Given the description of an element on the screen output the (x, y) to click on. 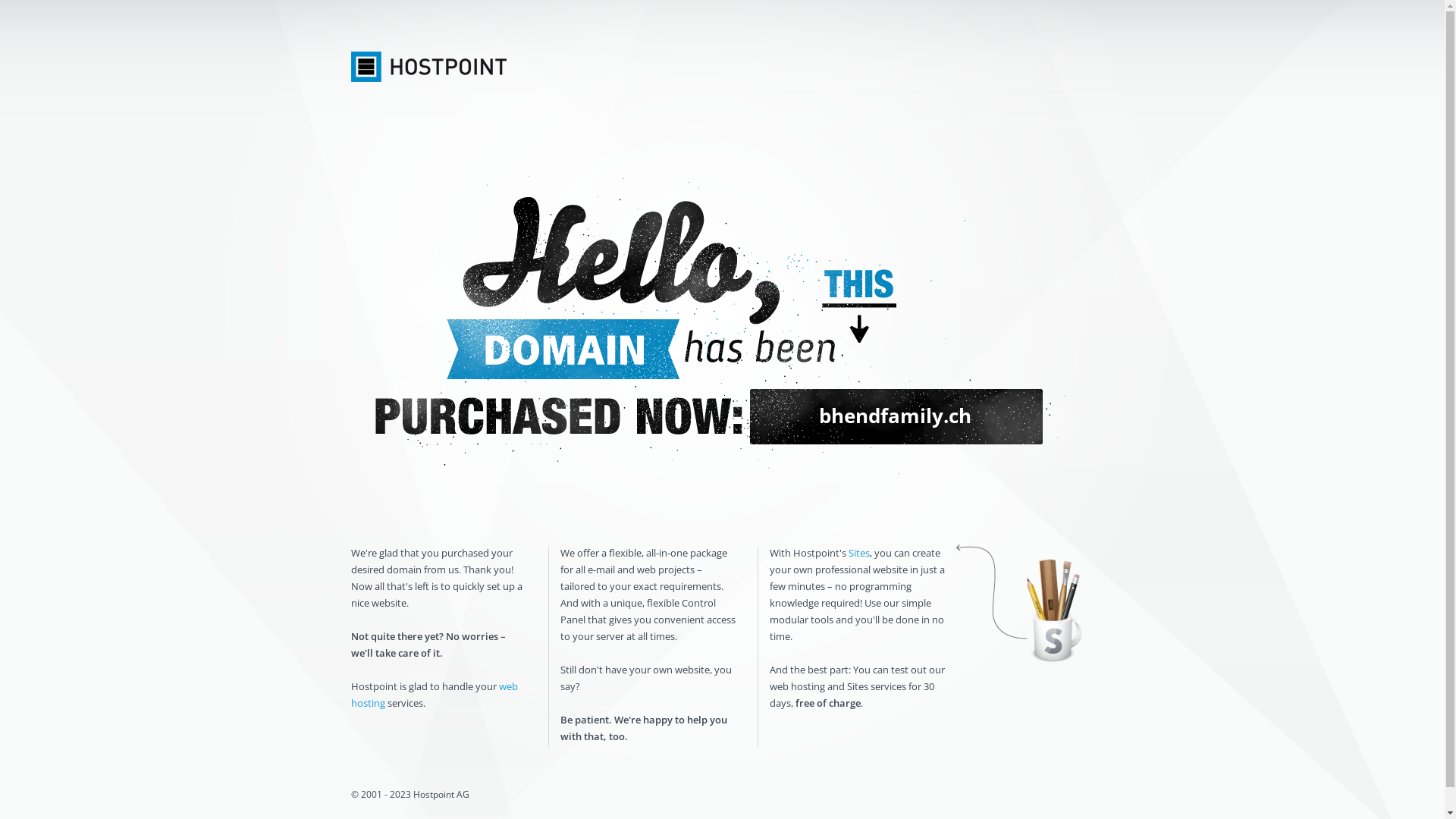
web hosting Element type: text (433, 694)
Sites Element type: text (858, 552)
